Given the description of an element on the screen output the (x, y) to click on. 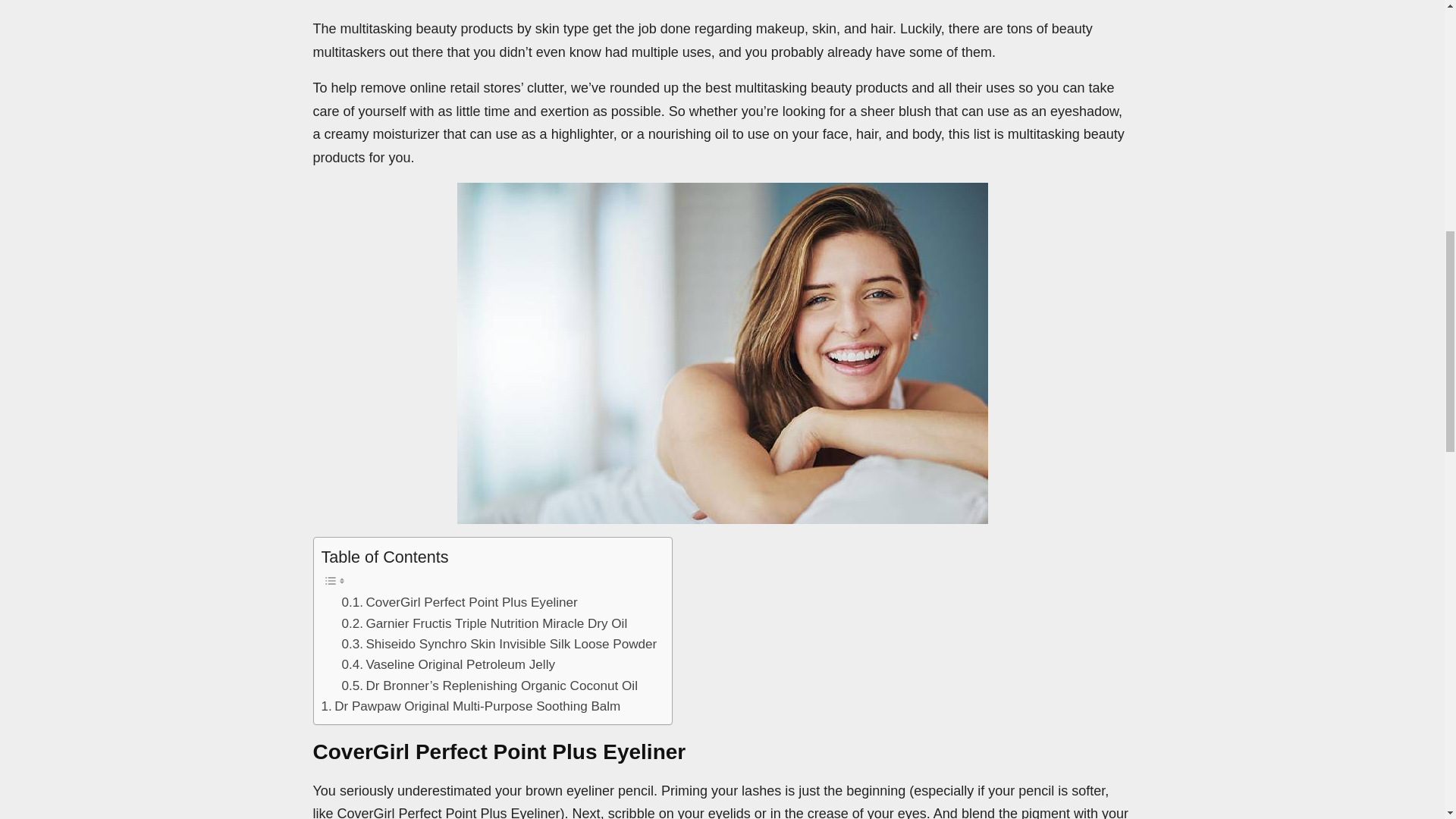
Shiseido Synchro Skin Invisible Silk Loose Powder (498, 643)
Vaseline Original Petroleum Jelly (447, 664)
CoverGirl Perfect Point Plus Eyeliner (458, 602)
Dr Pawpaw Original Multi-Purpose Soothing Balm (471, 706)
Dr Pawpaw Original Multi-Purpose Soothing Balm (471, 706)
Shiseido Synchro Skin Invisible Silk Loose Powder (498, 643)
Vaseline Original Petroleum Jelly (447, 664)
CoverGirl Perfect Point Plus Eyeliner (458, 602)
Garnier Fructis Triple Nutrition Miracle Dry Oil (483, 622)
Garnier Fructis Triple Nutrition Miracle Dry Oil (483, 622)
